Given the description of an element on the screen output the (x, y) to click on. 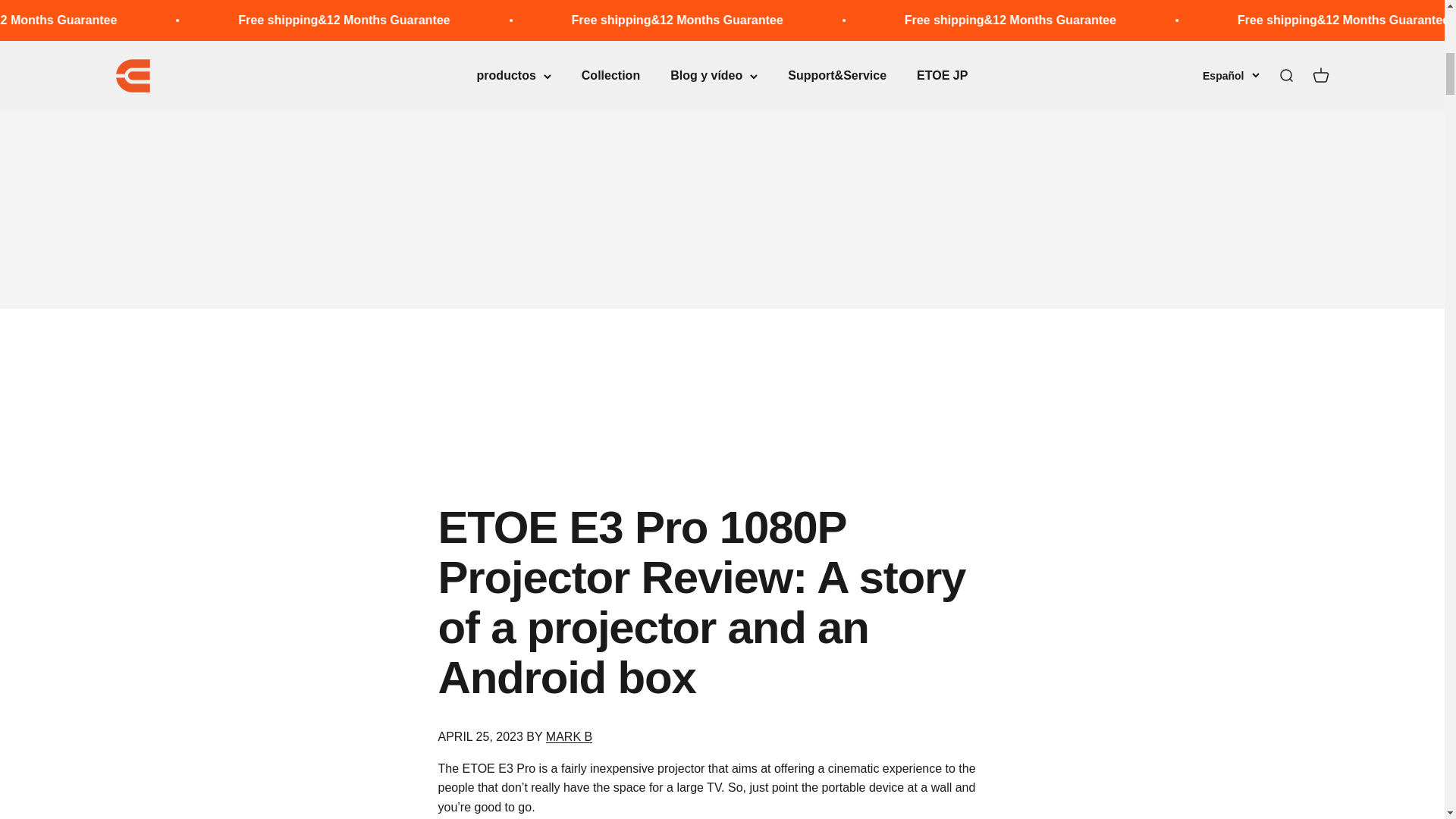
View all posts by Mark B (569, 736)
